Given the description of an element on the screen output the (x, y) to click on. 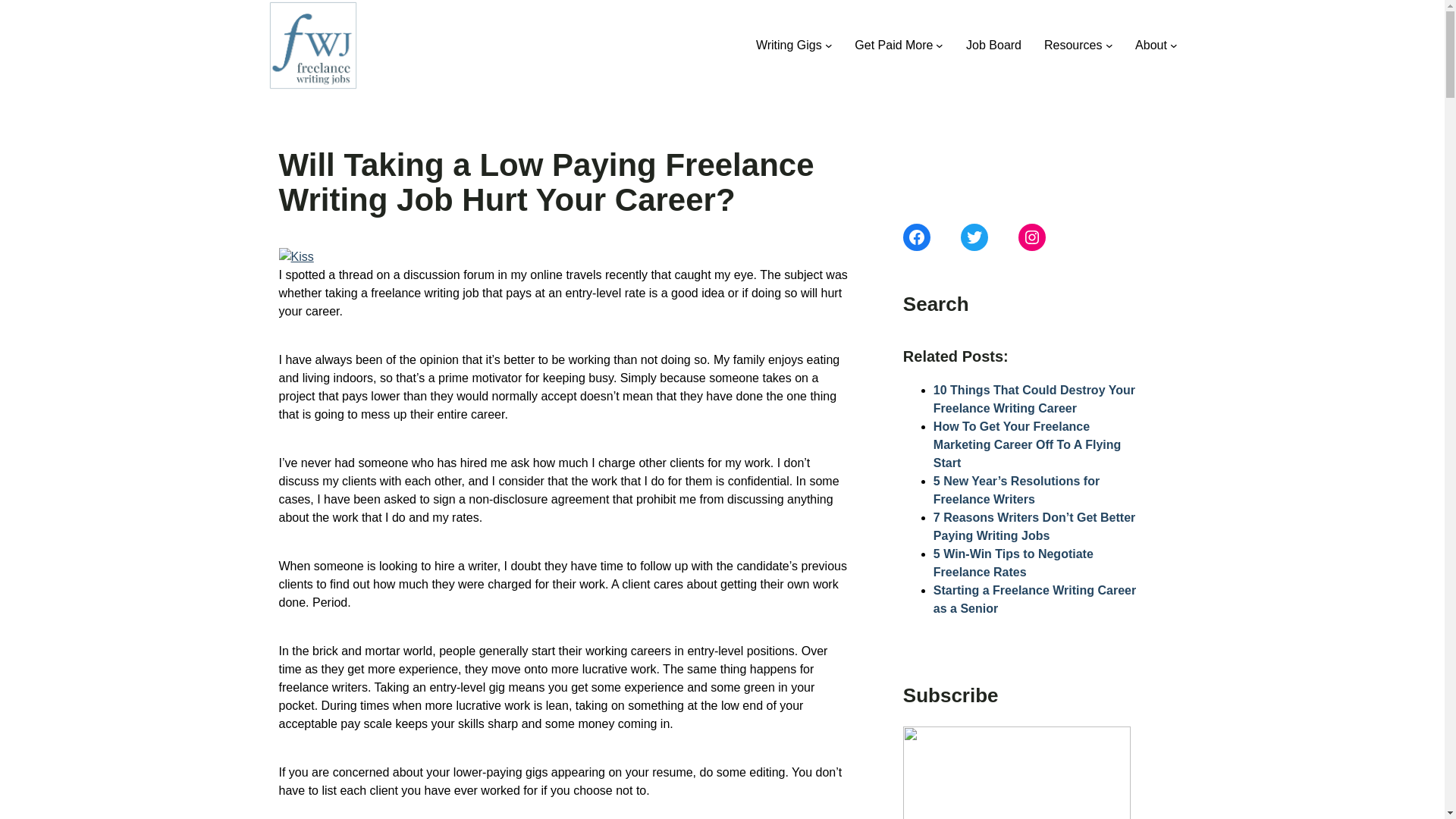
About (1151, 45)
Starting a Freelance Writing Career as a Senior (1034, 599)
10 Things That Could Destroy Your Freelance Writing Career (1034, 399)
Resources (1072, 45)
5 Win-Win Tips to Negotiate Freelance Rates (1013, 562)
Get Paid More (893, 45)
Kiss (296, 257)
Writing Gigs (788, 45)
Job Board (994, 45)
